Given the description of an element on the screen output the (x, y) to click on. 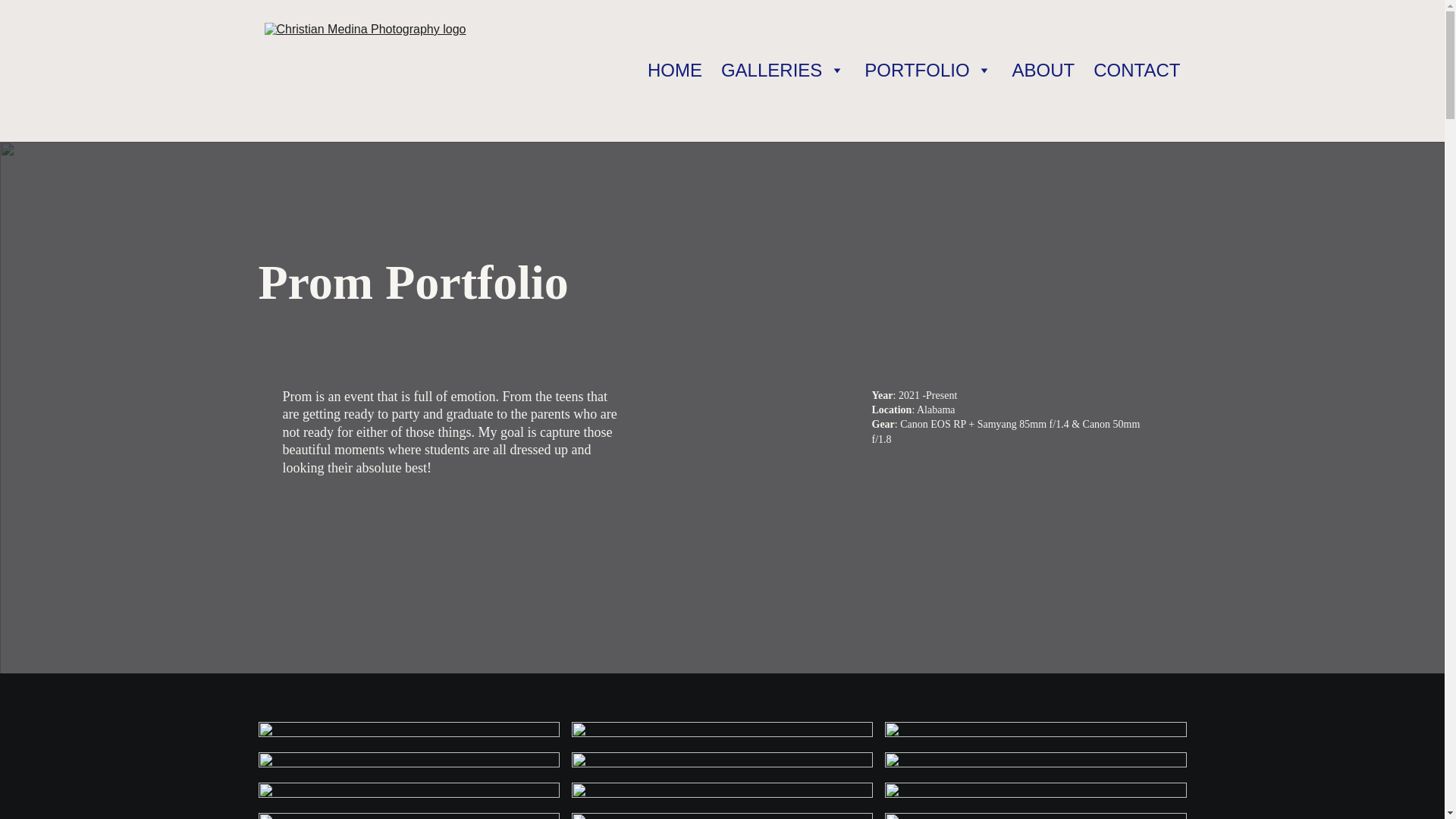
HOME (674, 70)
ABOUT (1043, 70)
CONTACT (1136, 70)
